Given the description of an element on the screen output the (x, y) to click on. 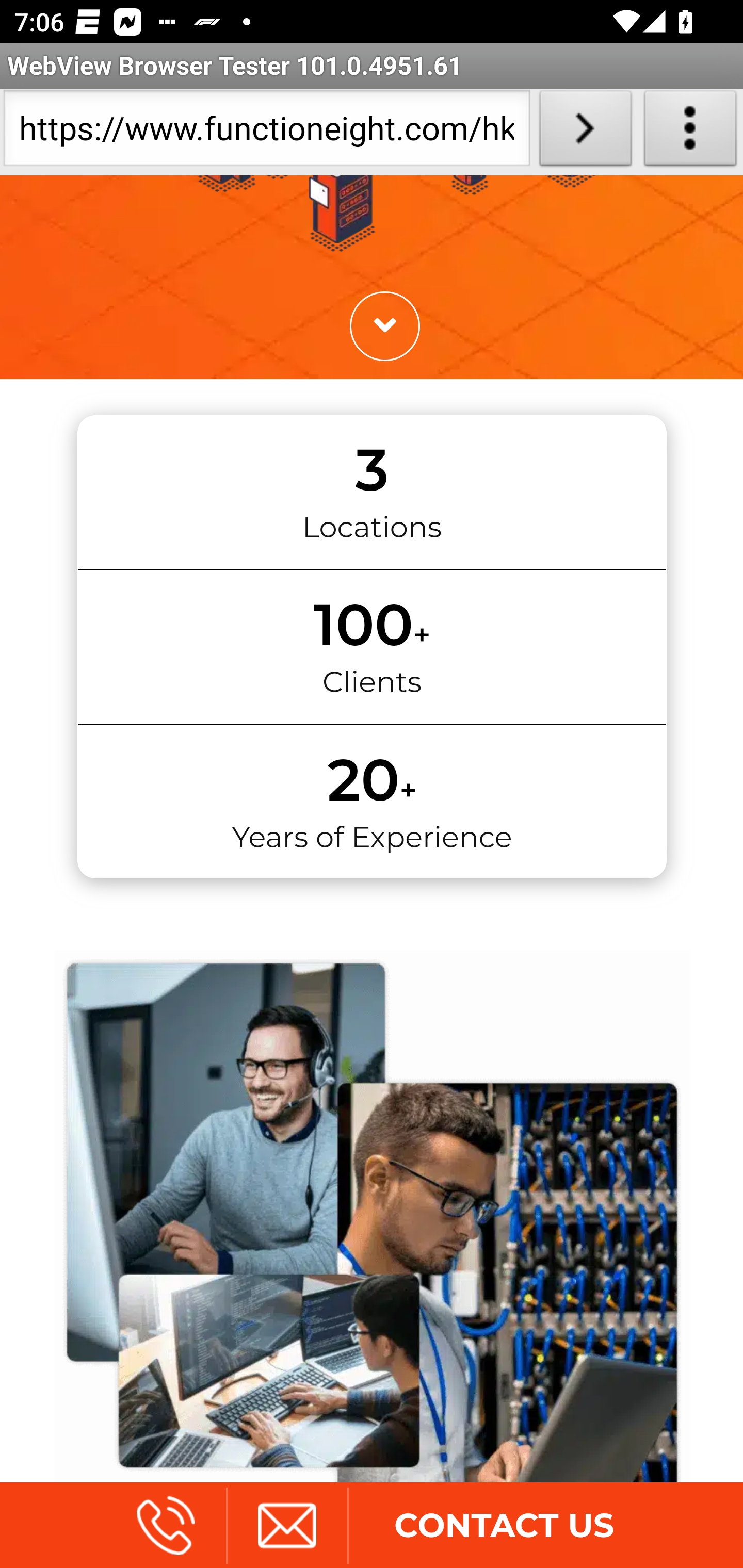
Load URL (585, 132)
About WebView (690, 132)
Link to #section-about-functioneight  (384, 327)
email (286, 1524)
CONTACT US (504, 1524)
